Given the description of an element on the screen output the (x, y) to click on. 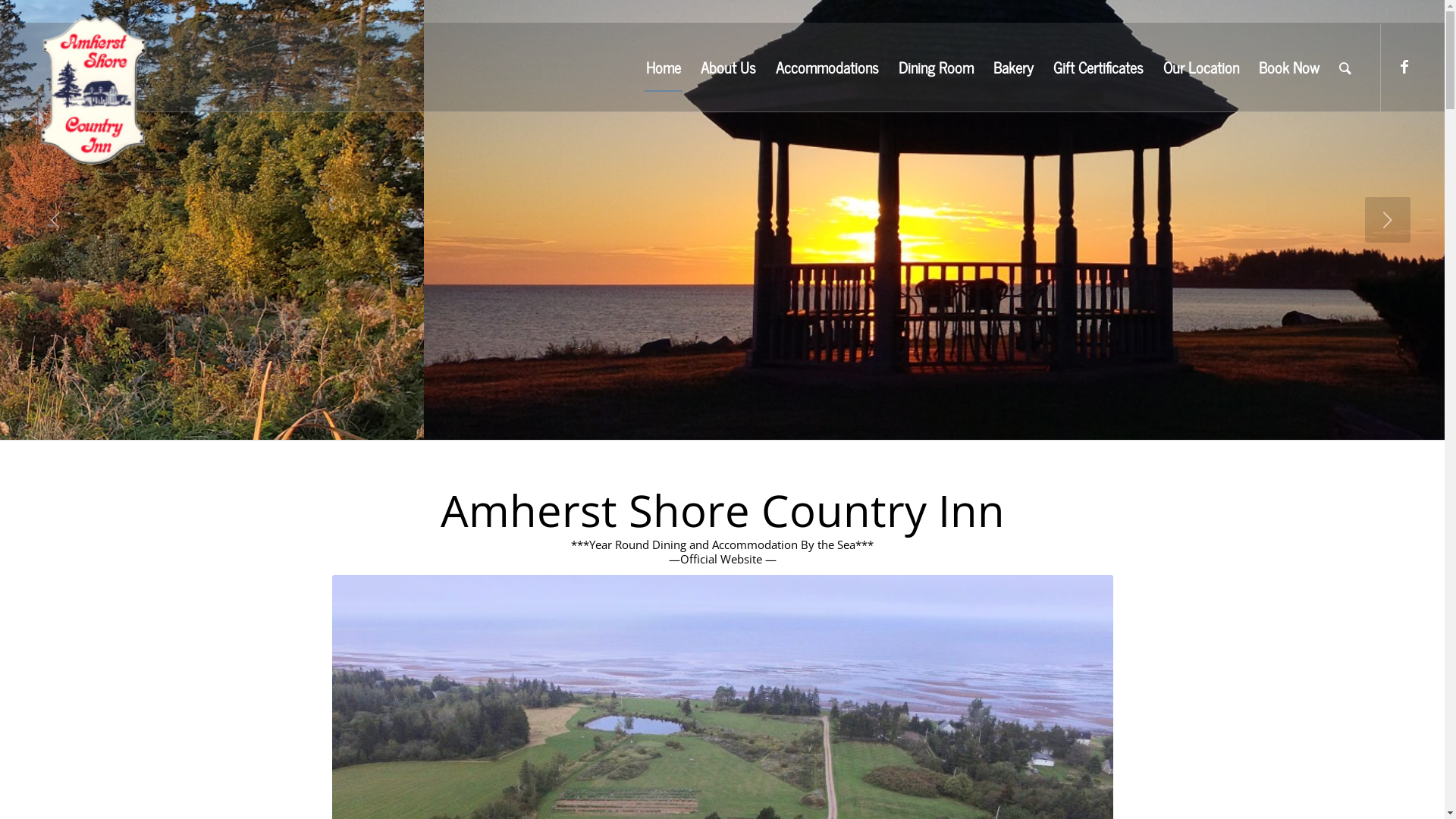
Facebook Element type: hover (1404, 66)
Book Now Element type: text (1288, 67)
Dining Room Element type: text (935, 67)
Asci-SIGNsmall Element type: hover (93, 91)
Our Location Element type: text (1200, 67)
Gift Certificates Element type: text (1098, 67)
About Us Element type: text (727, 67)
Home Element type: text (663, 67)
Bakery Element type: text (1013, 67)
Accommodations Element type: text (826, 67)
